Given the description of an element on the screen output the (x, y) to click on. 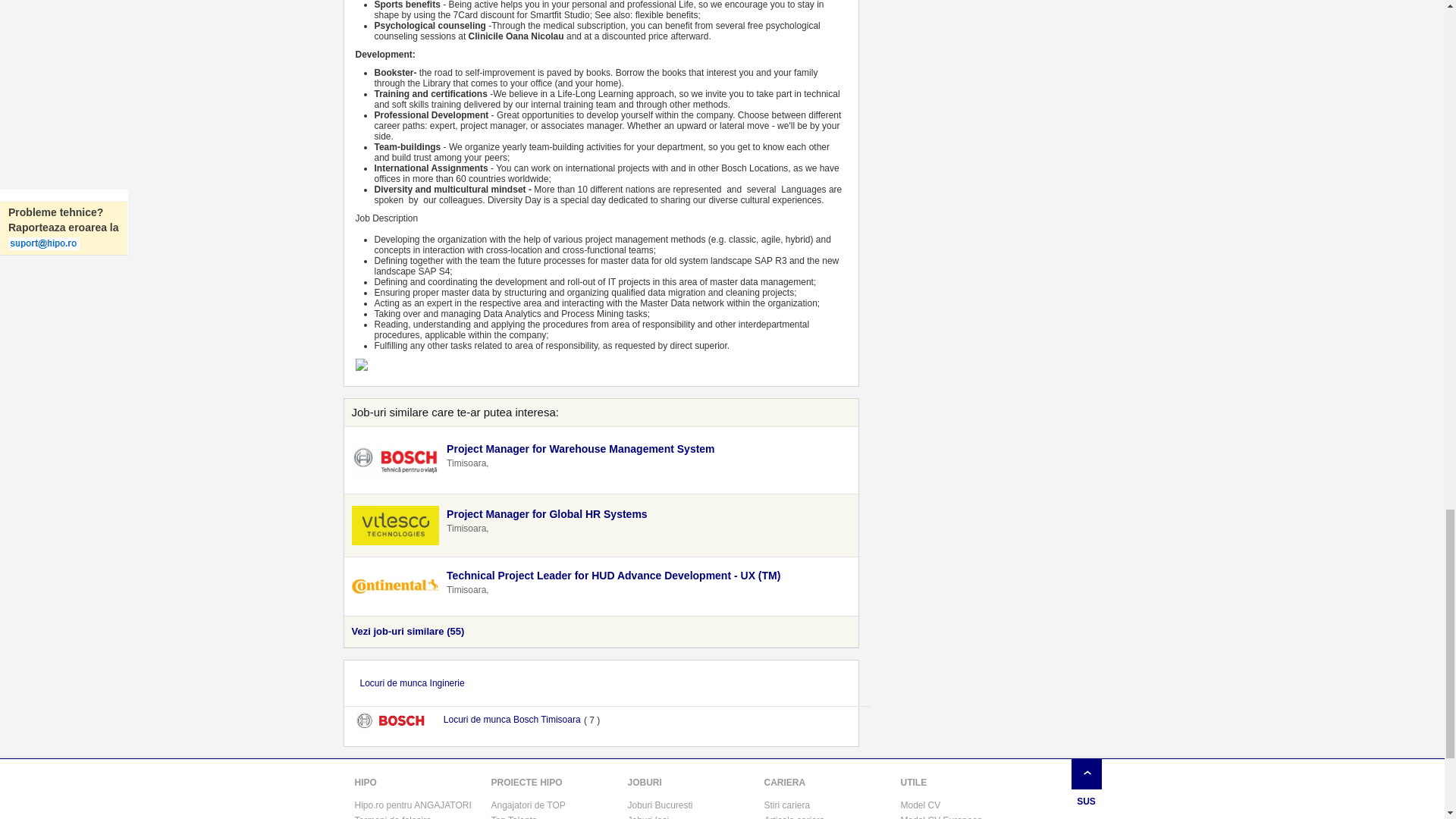
Bosch Romania (395, 460)
Vitesco Technologies (395, 525)
Locuri de munca Bosch Timisoara (397, 720)
Locuri de munca Bosch Timisoara (511, 719)
Locuri de munca Inginerie (412, 682)
Continental (395, 585)
